Given the description of an element on the screen output the (x, y) to click on. 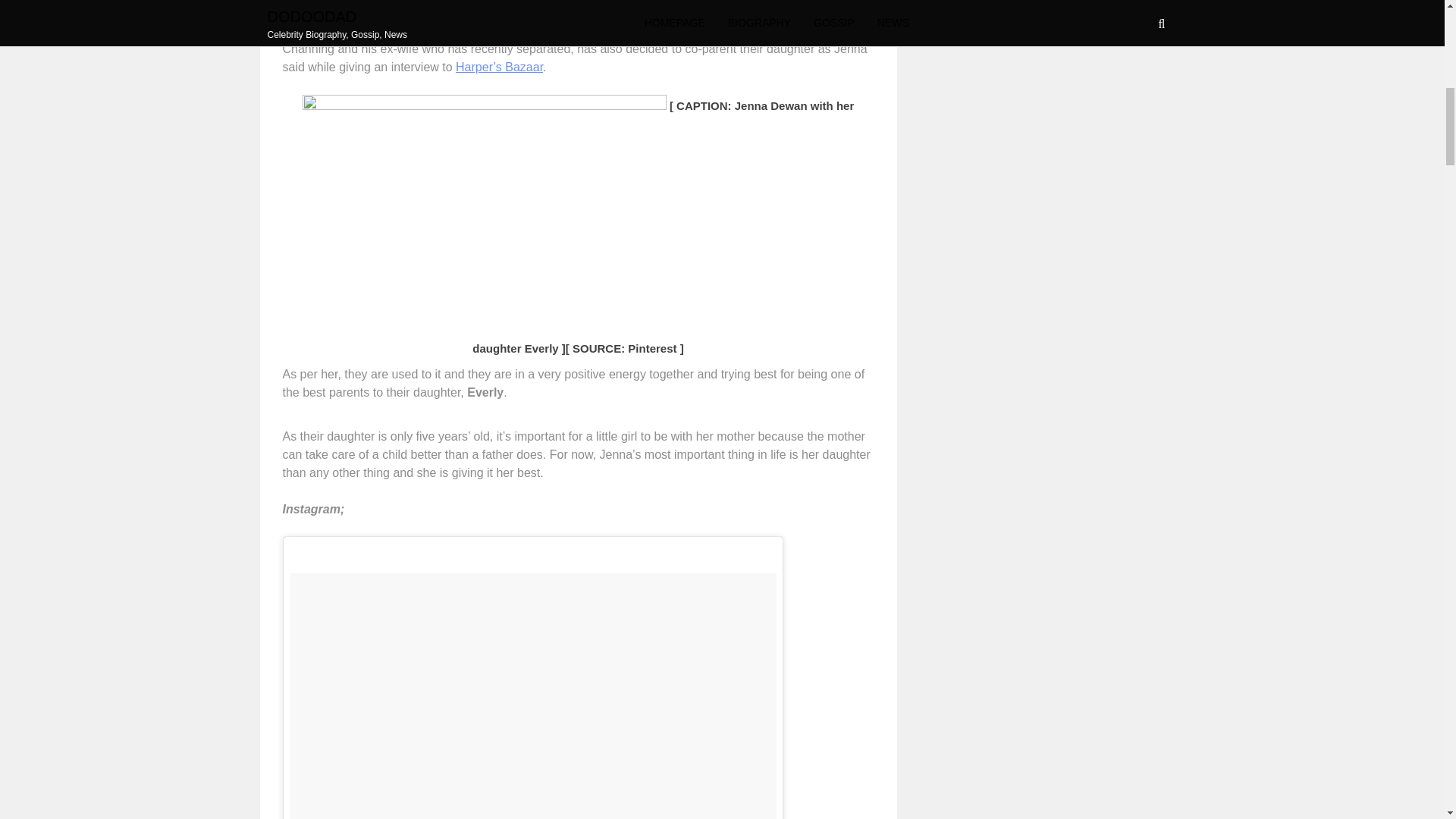
Harper's Bazaar (499, 66)
